Given the description of an element on the screen output the (x, y) to click on. 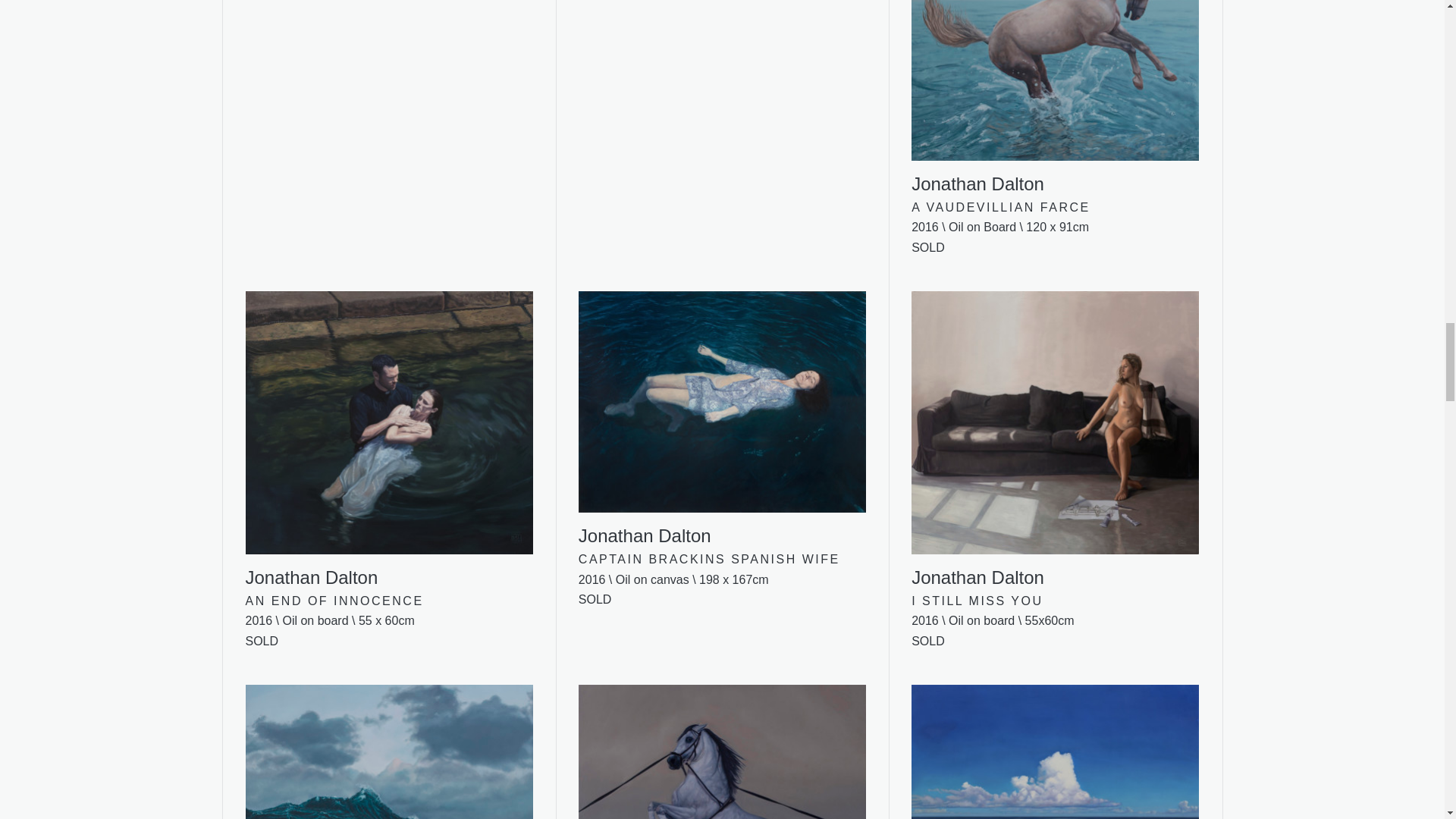
Jonathan Dalton (722, 751)
Jonathan Dalton (1054, 98)
Jonathan Dalton (389, 751)
Jonathan Dalton (722, 419)
Jonathan Dalton (1054, 751)
Jonathan Dalton (1054, 440)
Jonathan Dalton (389, 440)
